Given the description of an element on the screen output the (x, y) to click on. 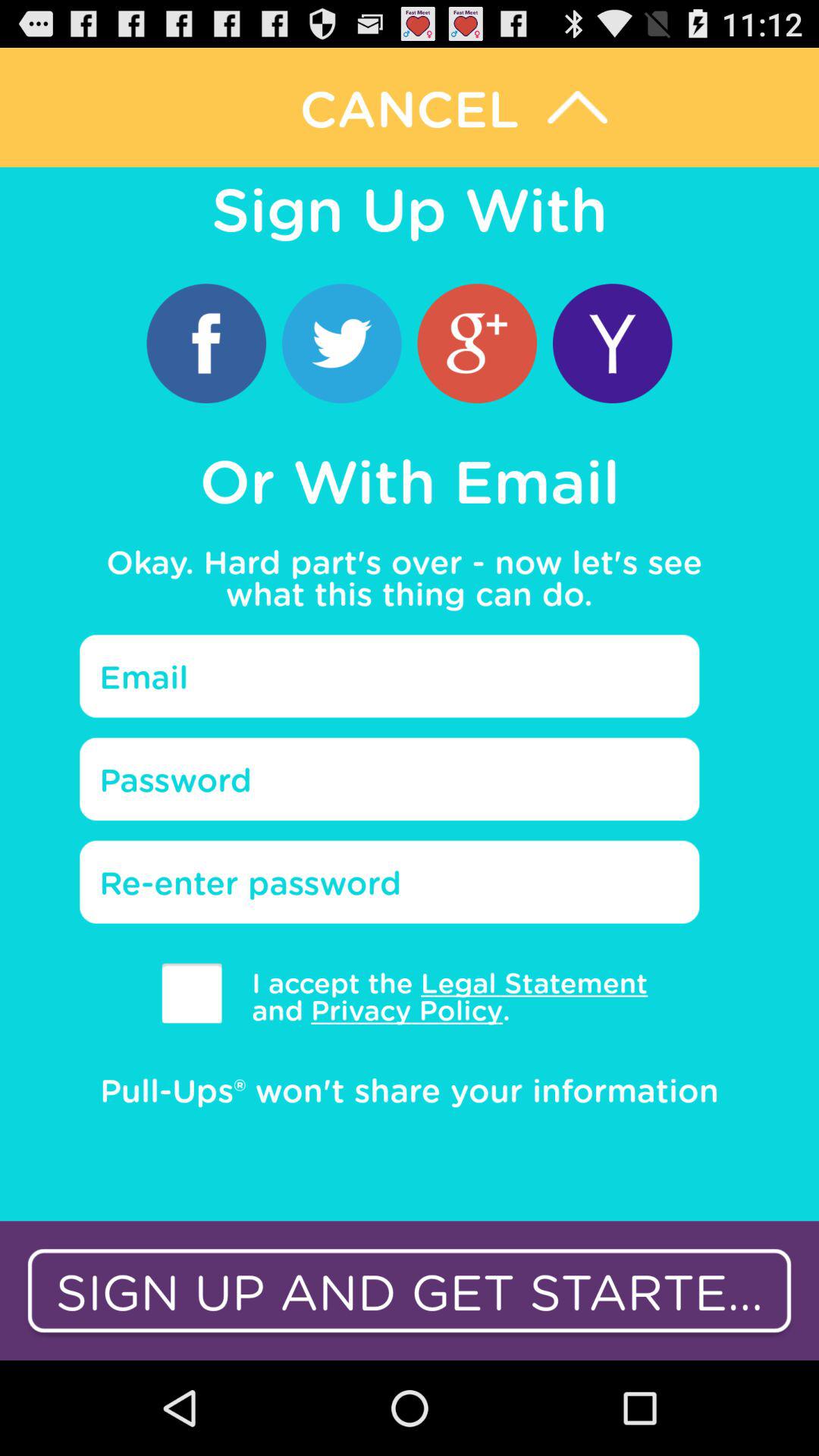
sign up with facebook (206, 343)
